Given the description of an element on the screen output the (x, y) to click on. 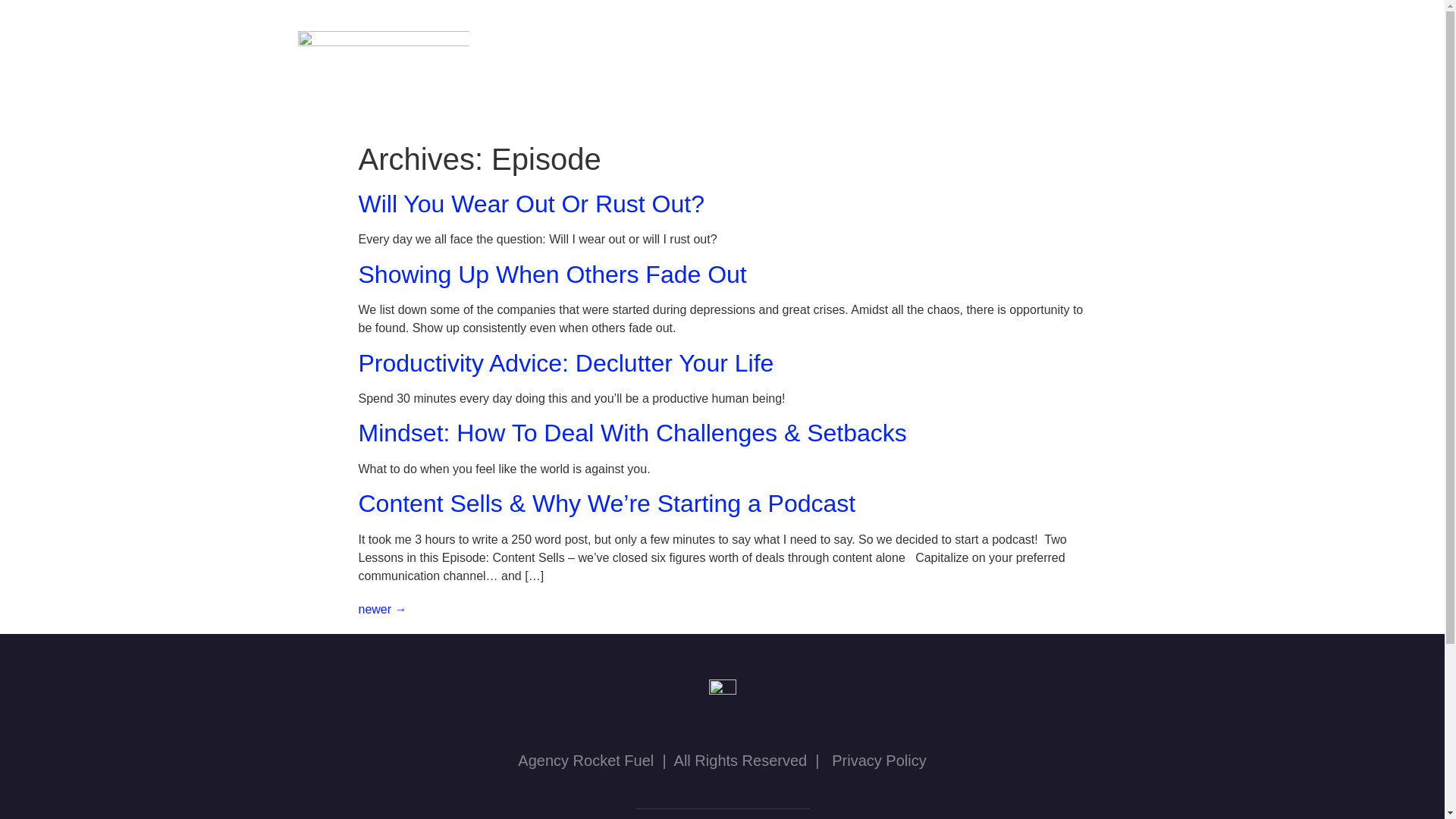
Privacy Policy (878, 760)
Our Story (841, 49)
Will You Wear Out Or Rust Out? (530, 203)
Showing Up When Others Fade Out (551, 274)
Home (645, 49)
The ARF Accelerator (1064, 49)
Apply (1112, 85)
Case Studies (736, 49)
Productivity Advice: Declutter Your Life (565, 362)
Manifesto (935, 49)
